Given the description of an element on the screen output the (x, y) to click on. 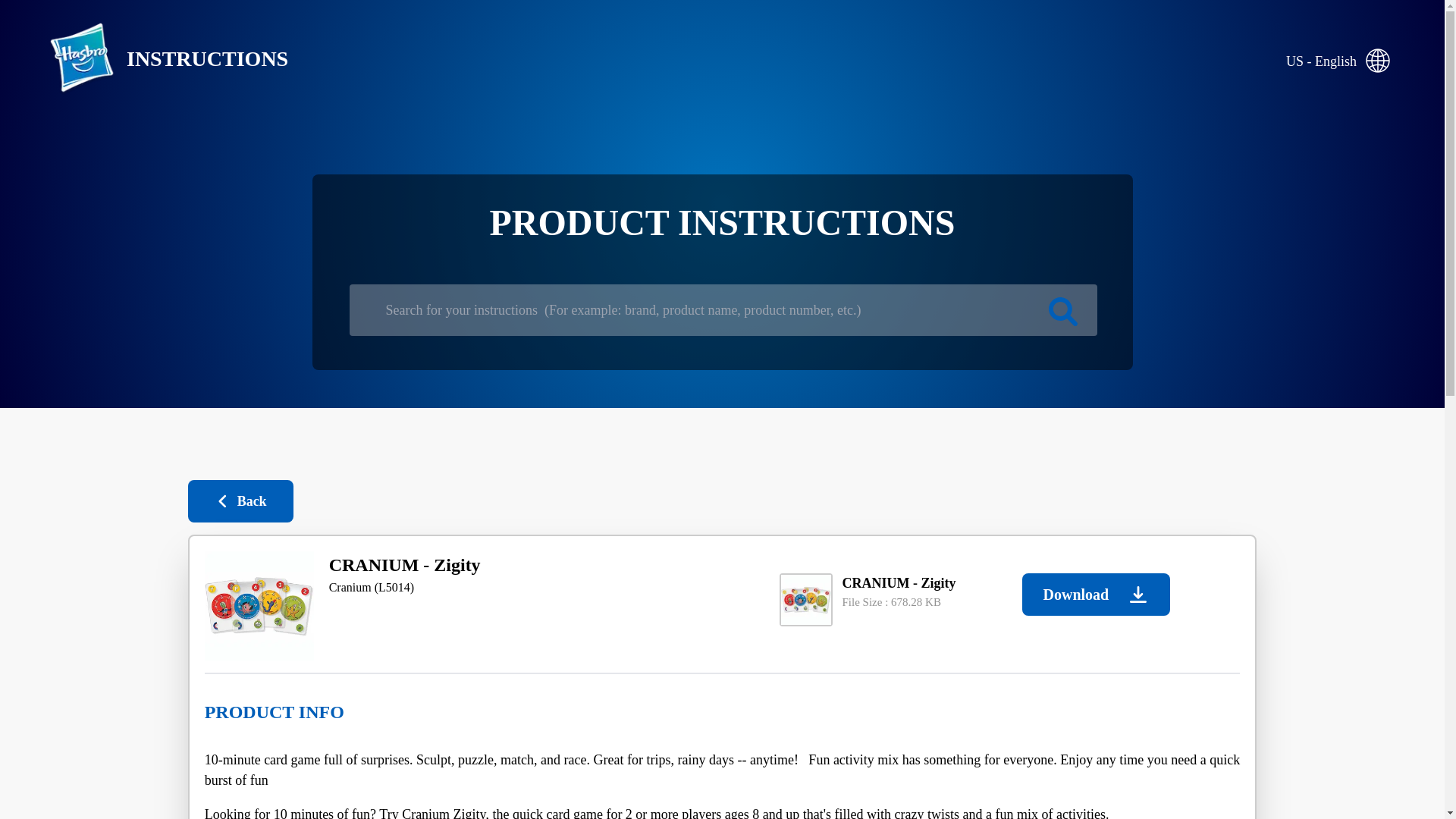
Download (1096, 594)
Back (240, 500)
INSTRUCTIONS (156, 59)
